Given the description of an element on the screen output the (x, y) to click on. 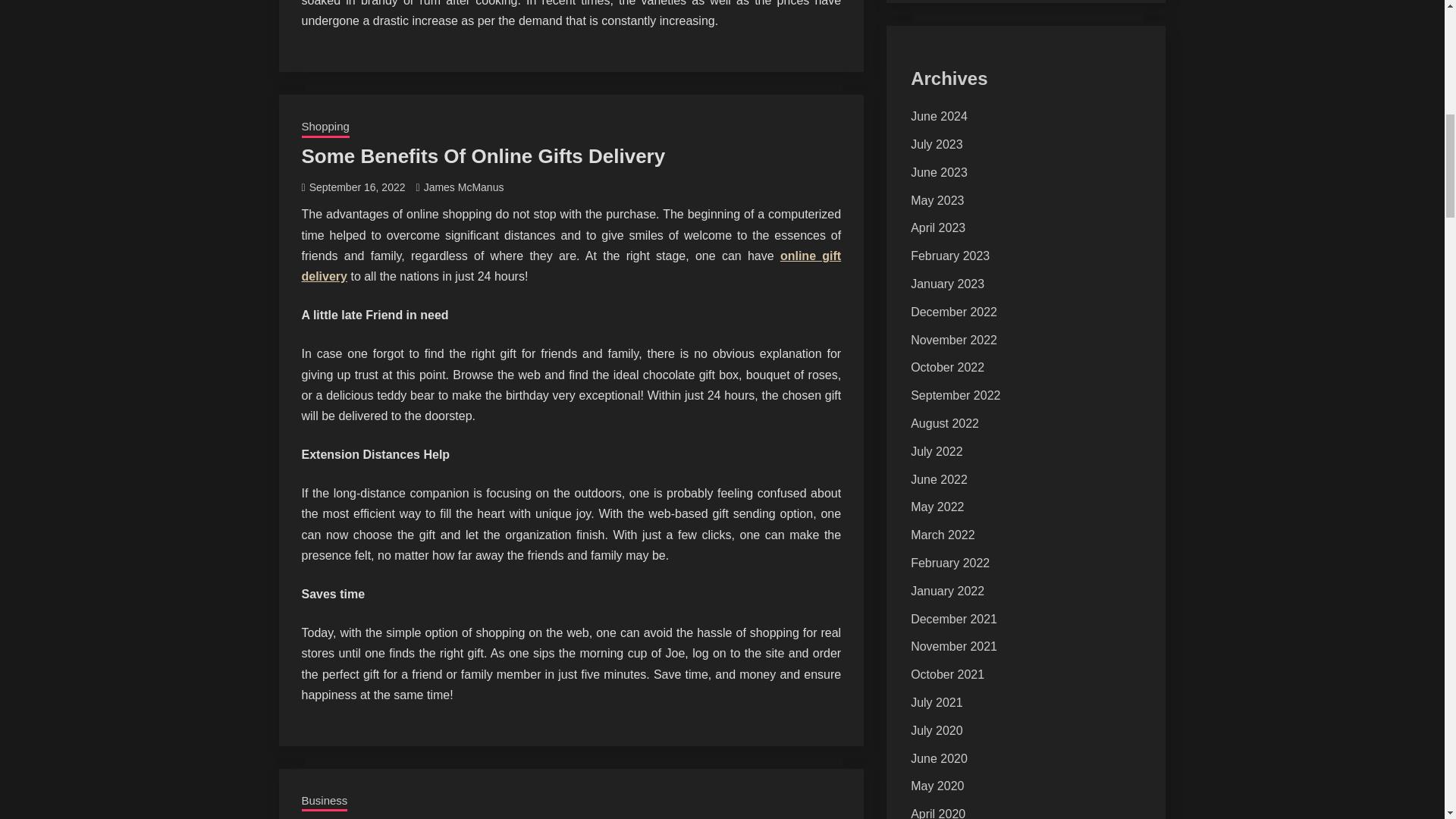
Business (324, 802)
Shopping (325, 127)
September 16, 2022 (357, 186)
Some Benefits Of Online Gifts Delivery (483, 155)
online gift delivery (571, 265)
James McManus (463, 186)
